Given the description of an element on the screen output the (x, y) to click on. 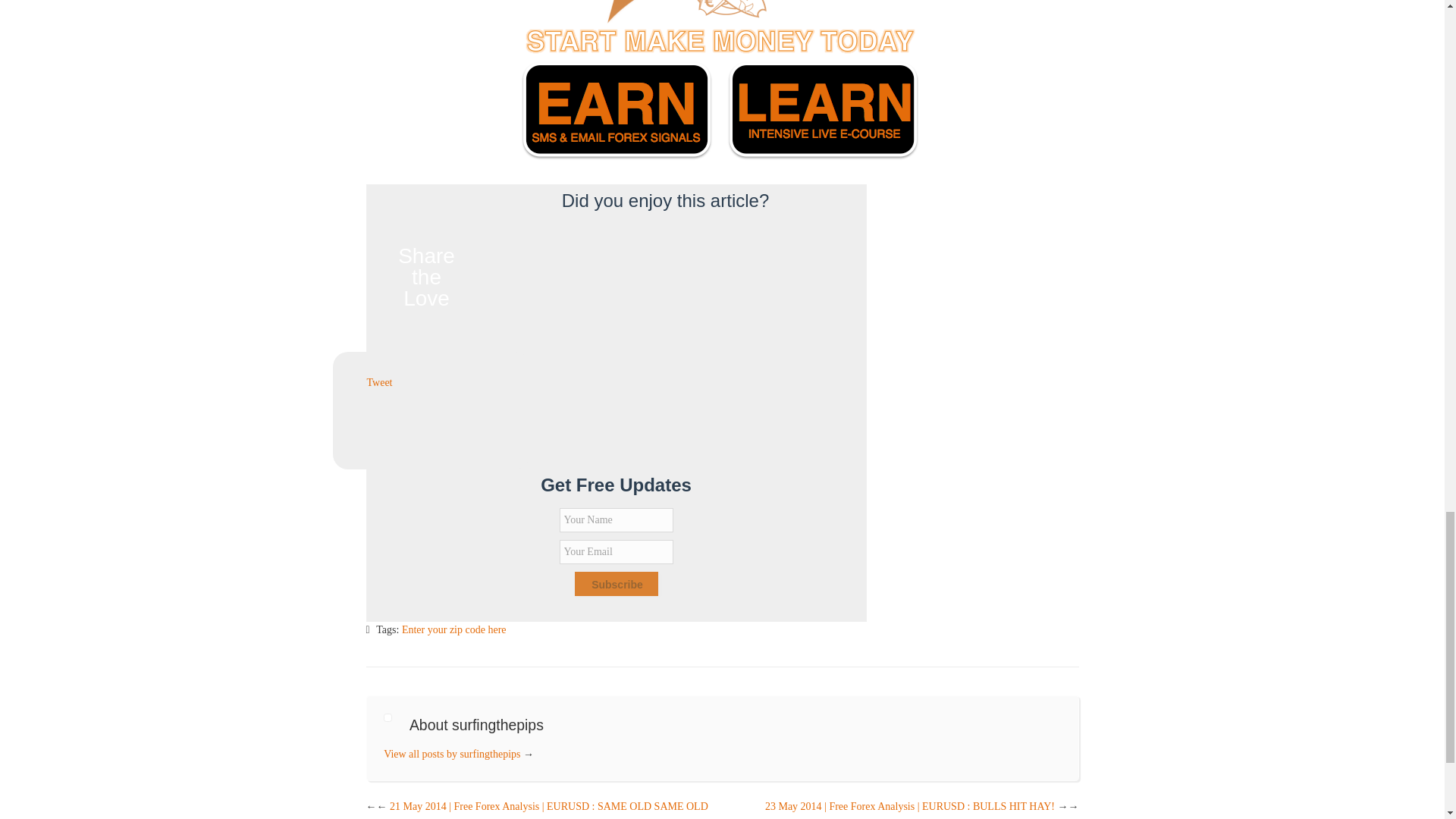
Tweet (379, 382)
Subscribe (616, 583)
Subscribe (616, 583)
Enter your zip code here (453, 629)
go pro surfingthepips (722, 83)
